Given the description of an element on the screen output the (x, y) to click on. 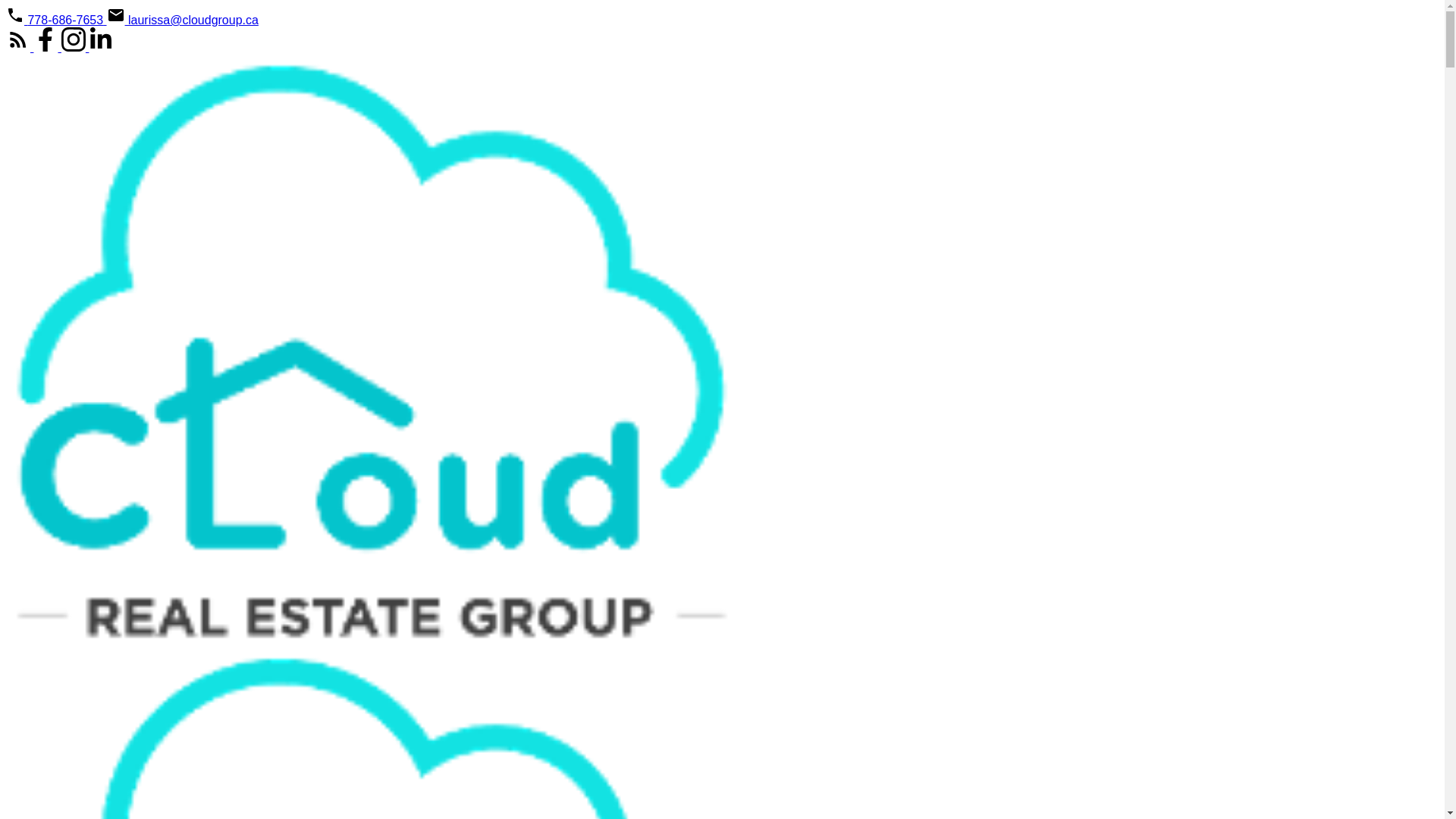
778-686-7653 (55, 19)
